Given the description of an element on the screen output the (x, y) to click on. 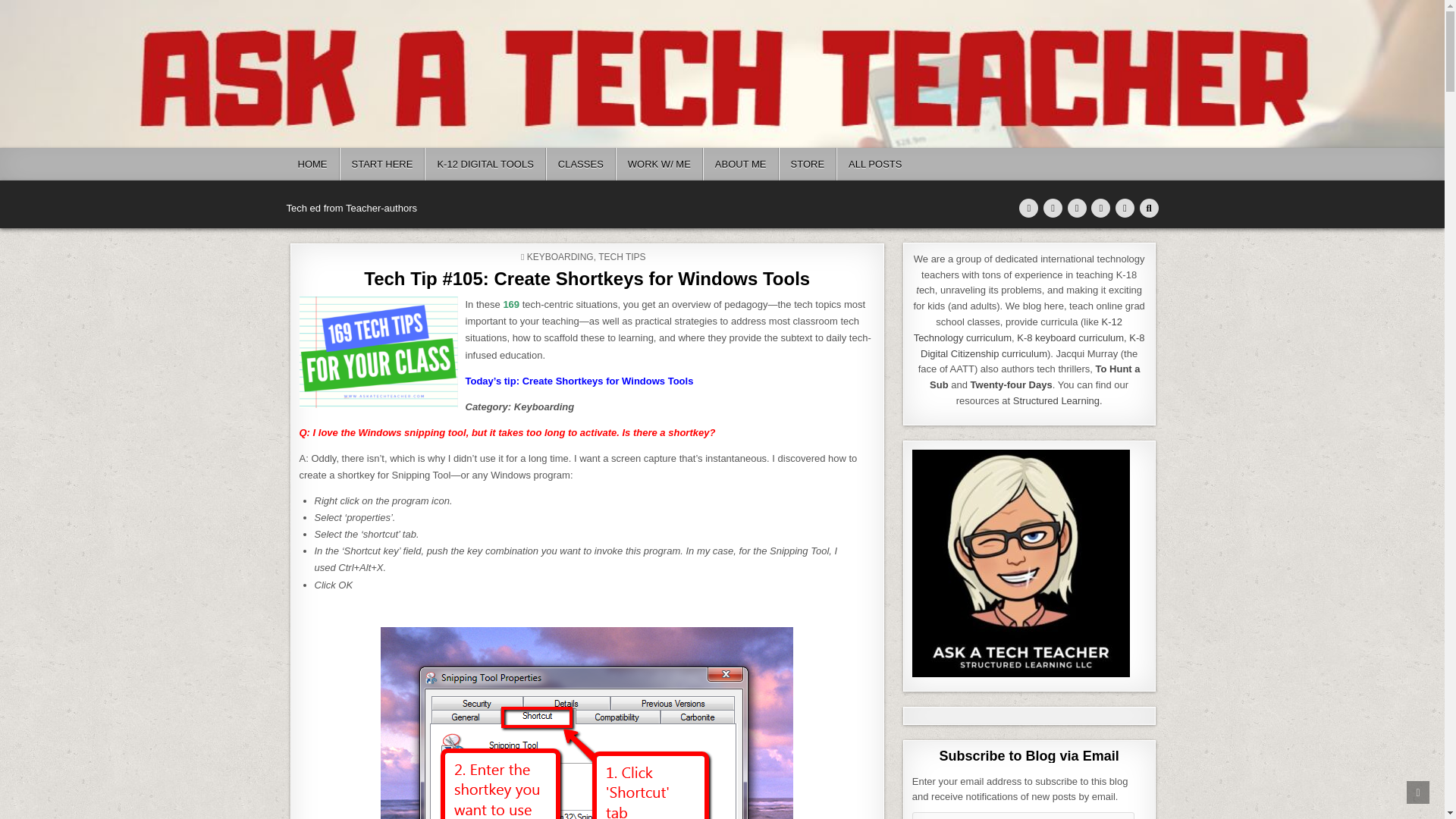
SCROLL TO TOP (1417, 792)
HOME (312, 164)
START HERE (382, 164)
Search (1148, 207)
Instagram (1124, 207)
K-12 DIGITAL TOOLS (484, 164)
Twitter (1028, 207)
